Given the description of an element on the screen output the (x, y) to click on. 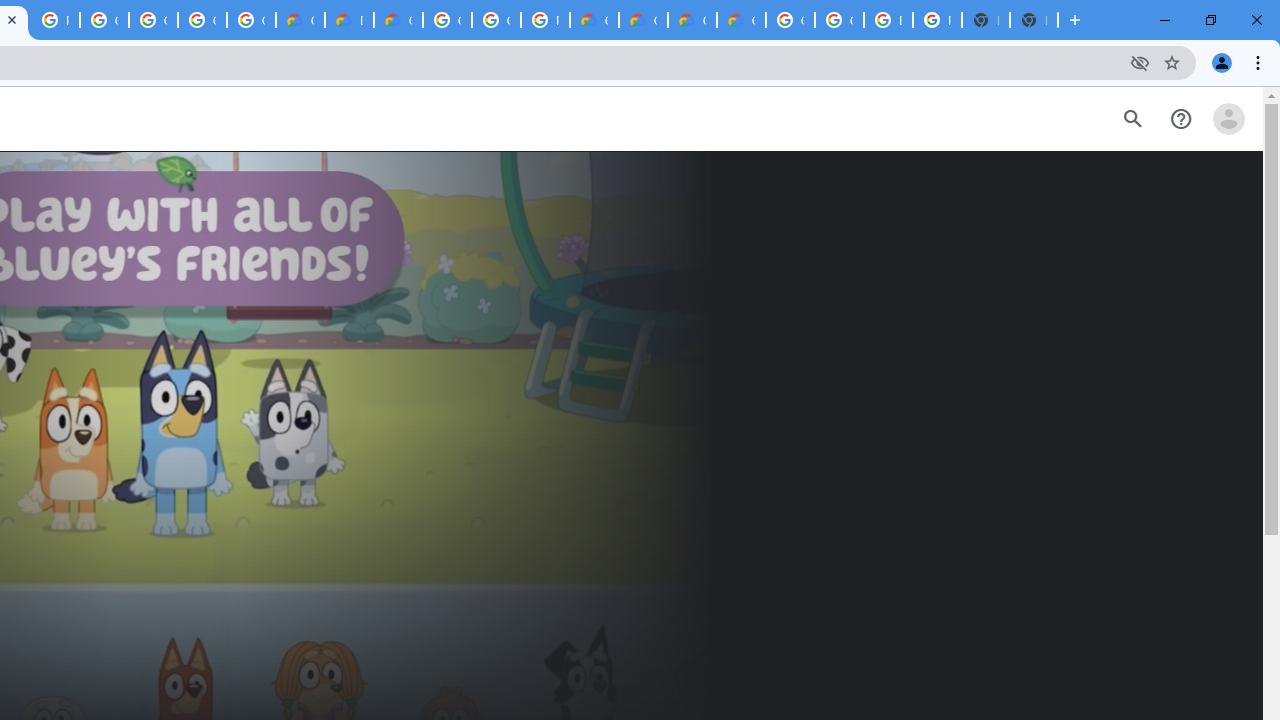
Customer Care | Google Cloud (594, 20)
Google Cloud Service Health (740, 20)
Open account menu (1228, 119)
Google Workspace - Specific Terms (251, 20)
Google Workspace - Specific Terms (201, 20)
Google Cloud Platform (496, 20)
Google Cloud Platform (447, 20)
Google Cloud Pricing Calculator (692, 20)
